Given the description of an element on the screen output the (x, y) to click on. 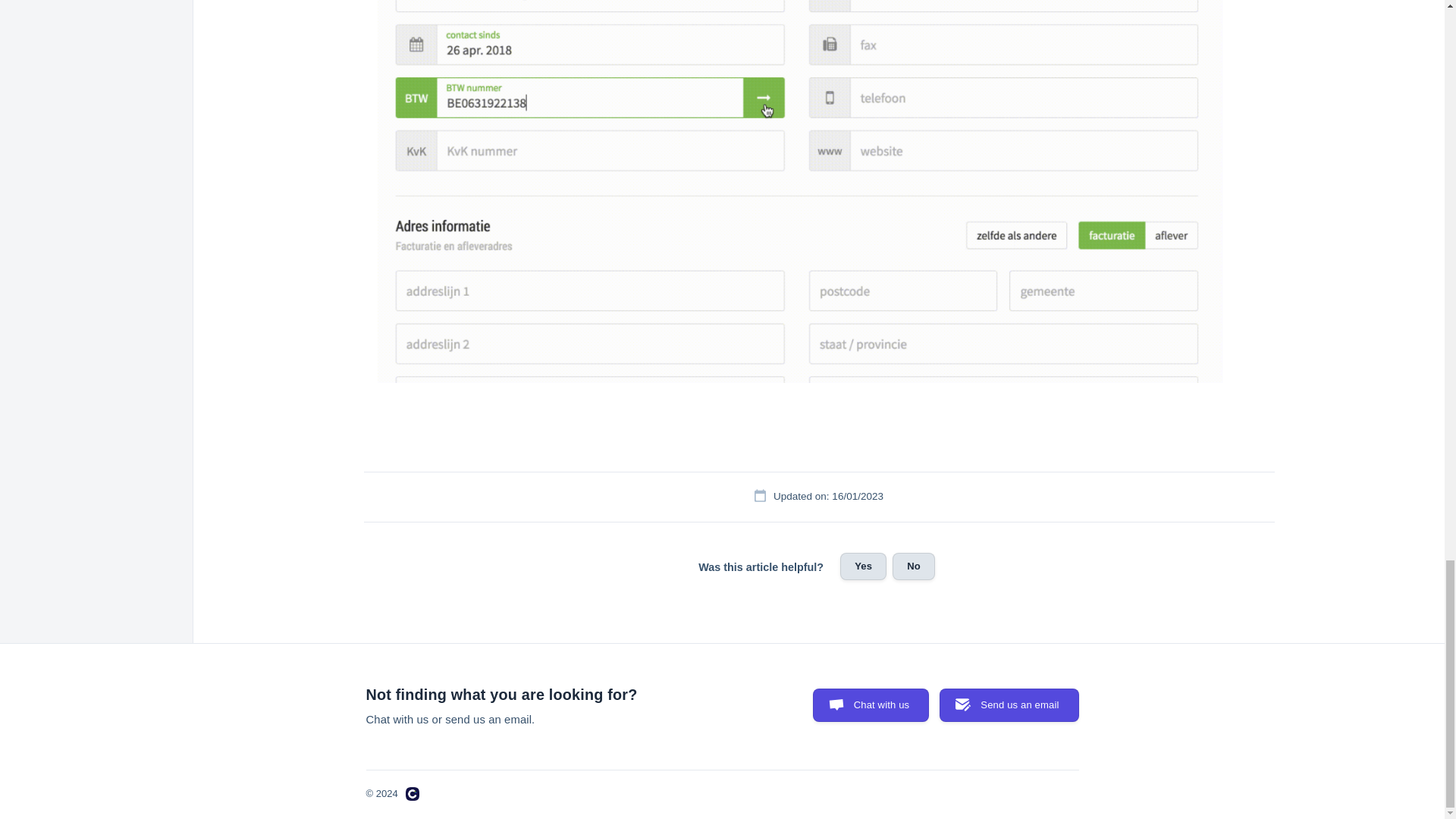
No (913, 565)
Send us an email (1008, 704)
Yes (863, 565)
Chat with us (871, 704)
